Given the description of an element on the screen output the (x, y) to click on. 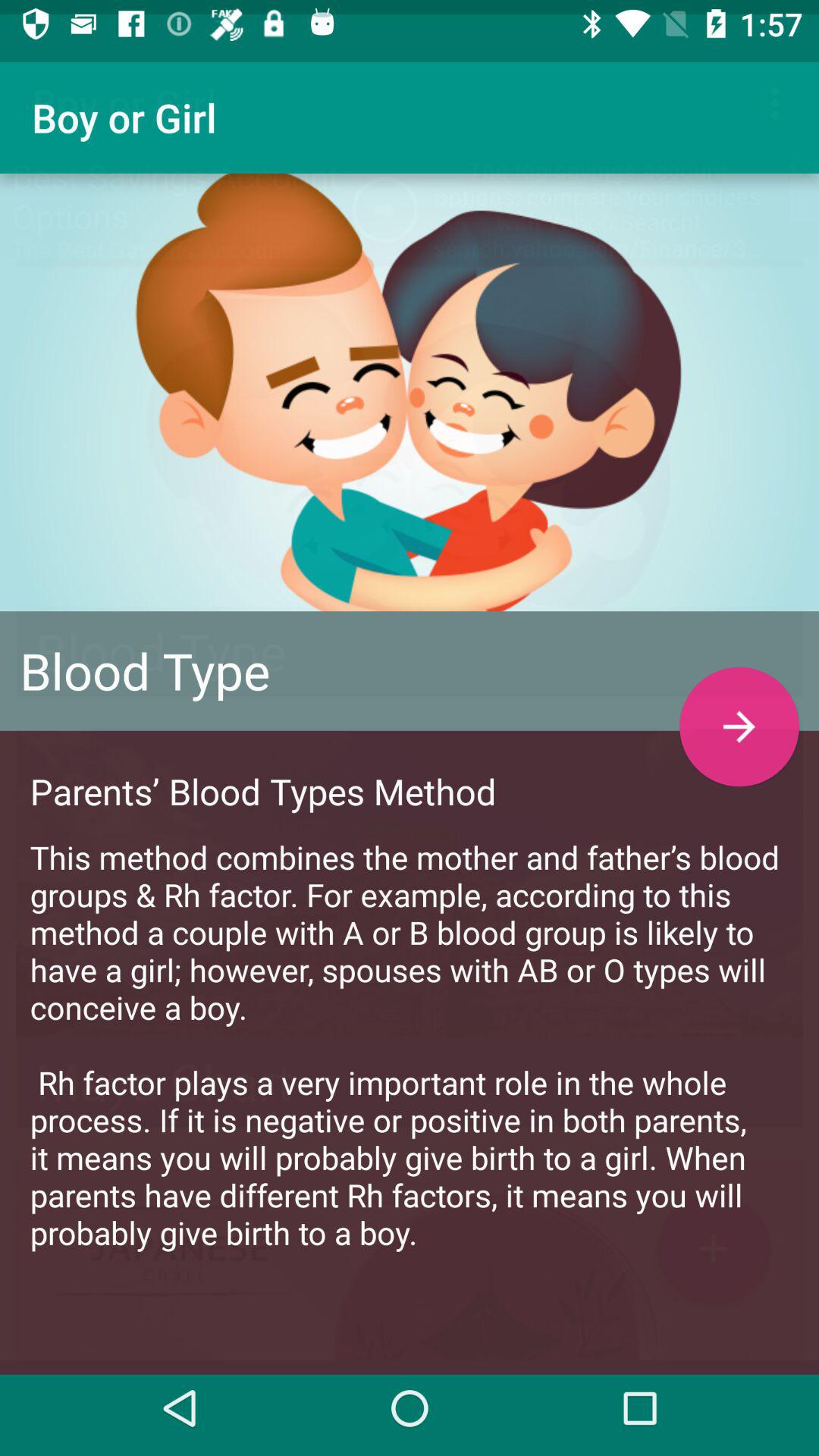
go to the next page (739, 712)
